Given the description of an element on the screen output the (x, y) to click on. 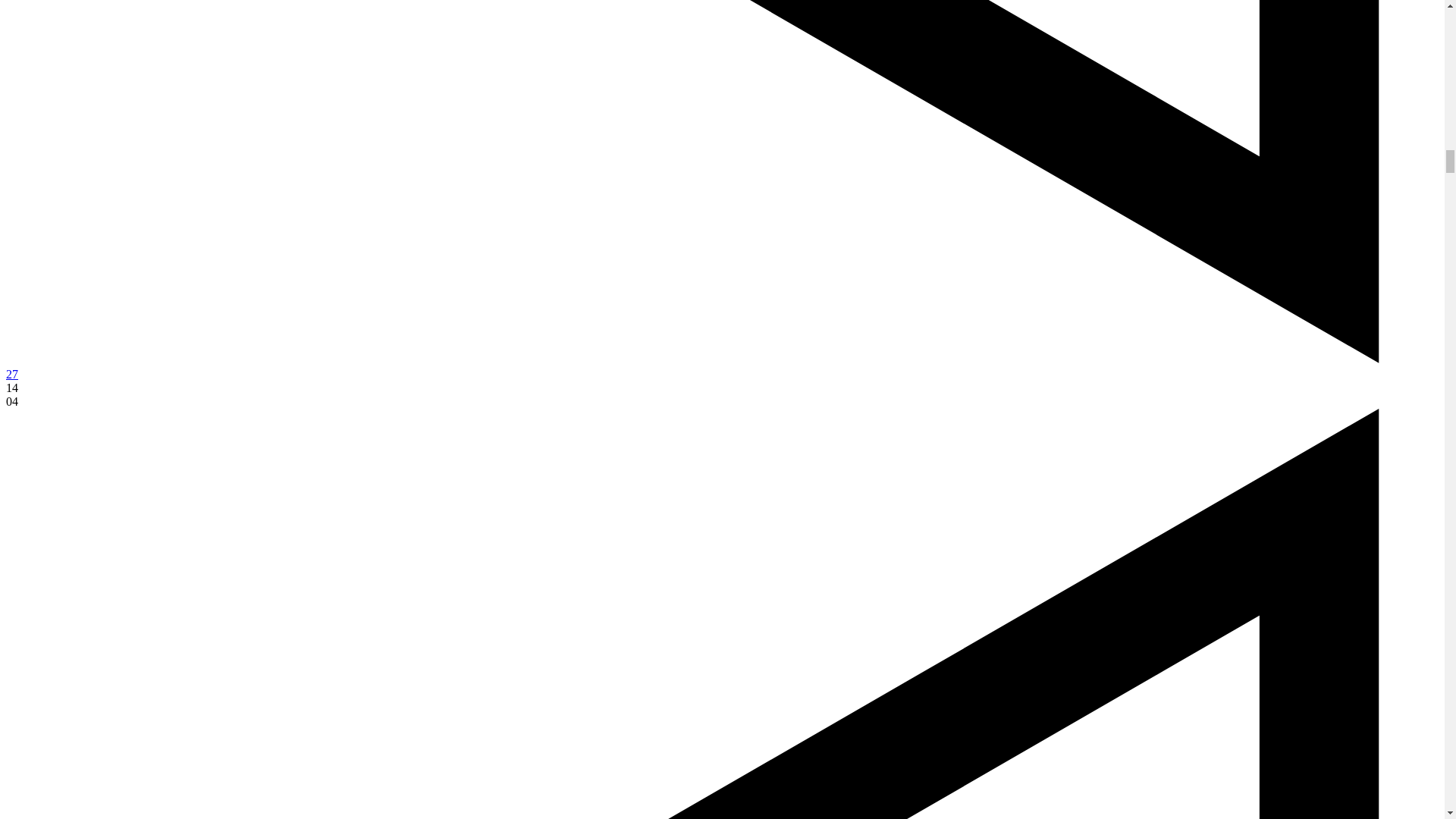
27 (11, 373)
